Given the description of an element on the screen output the (x, y) to click on. 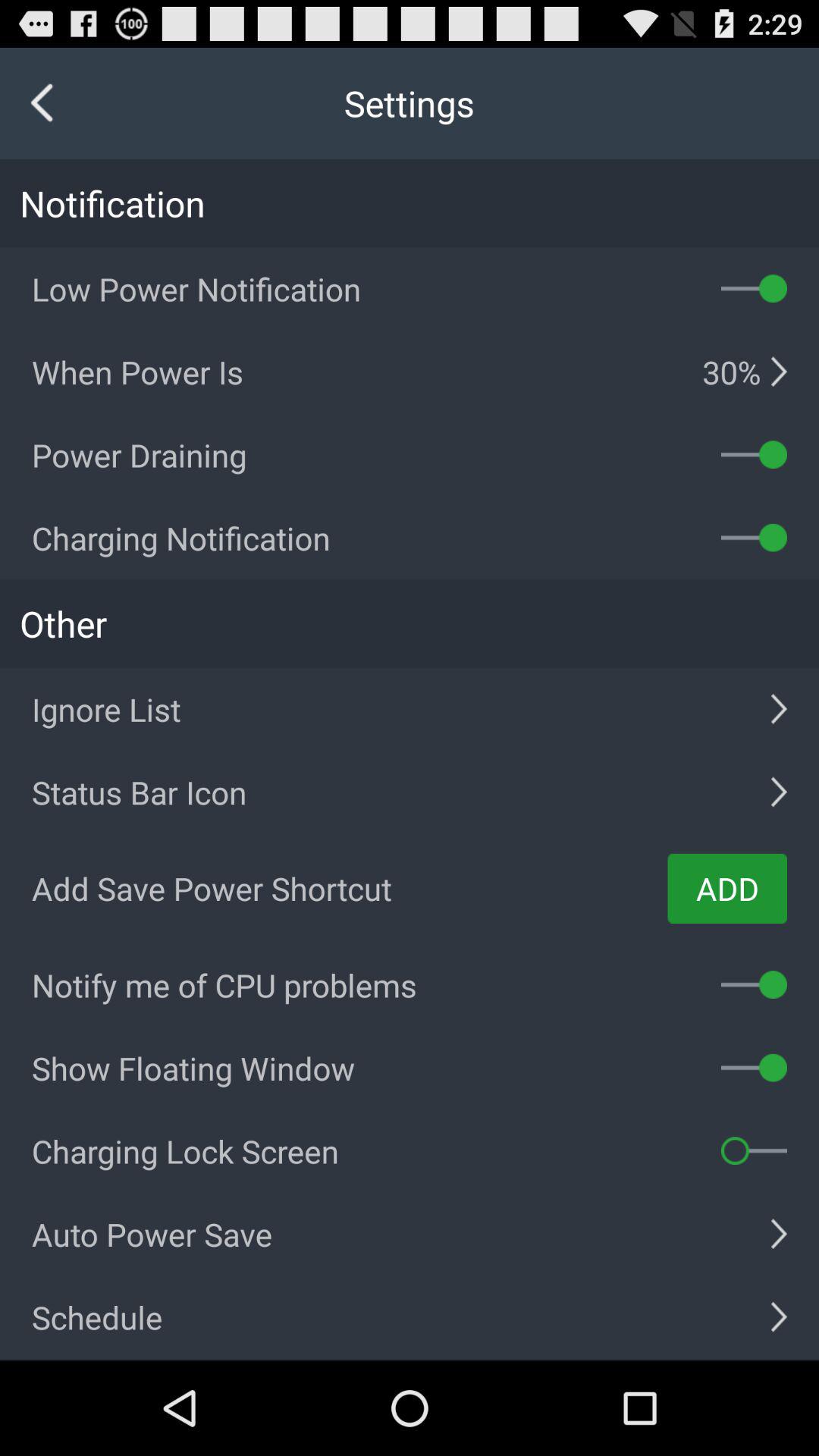
open app to the left of settings (42, 103)
